Given the description of an element on the screen output the (x, y) to click on. 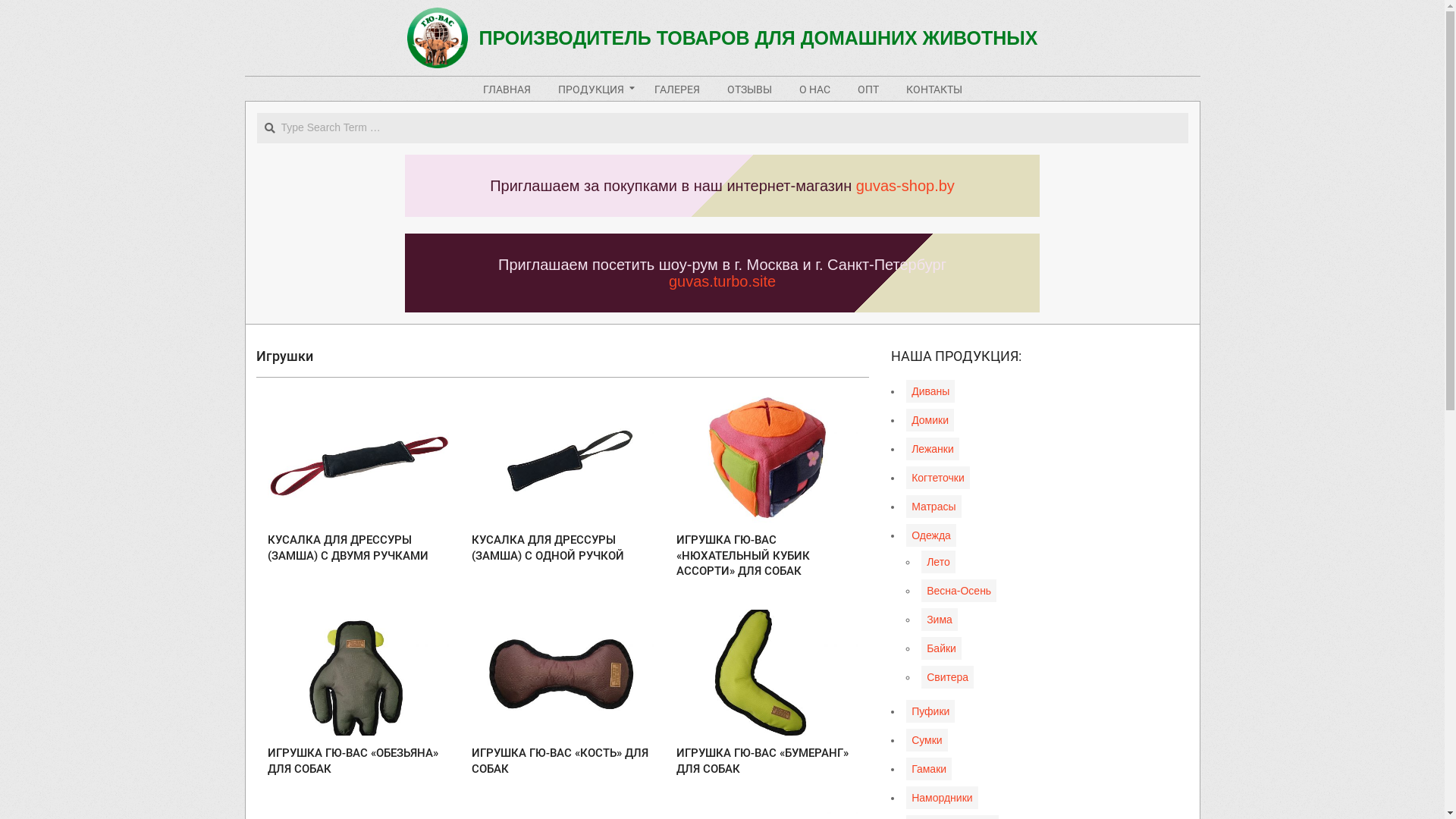
guvas-shop.by Element type: text (905, 185)
guvas.turbo.site Element type: text (721, 281)
